Given the description of an element on the screen output the (x, y) to click on. 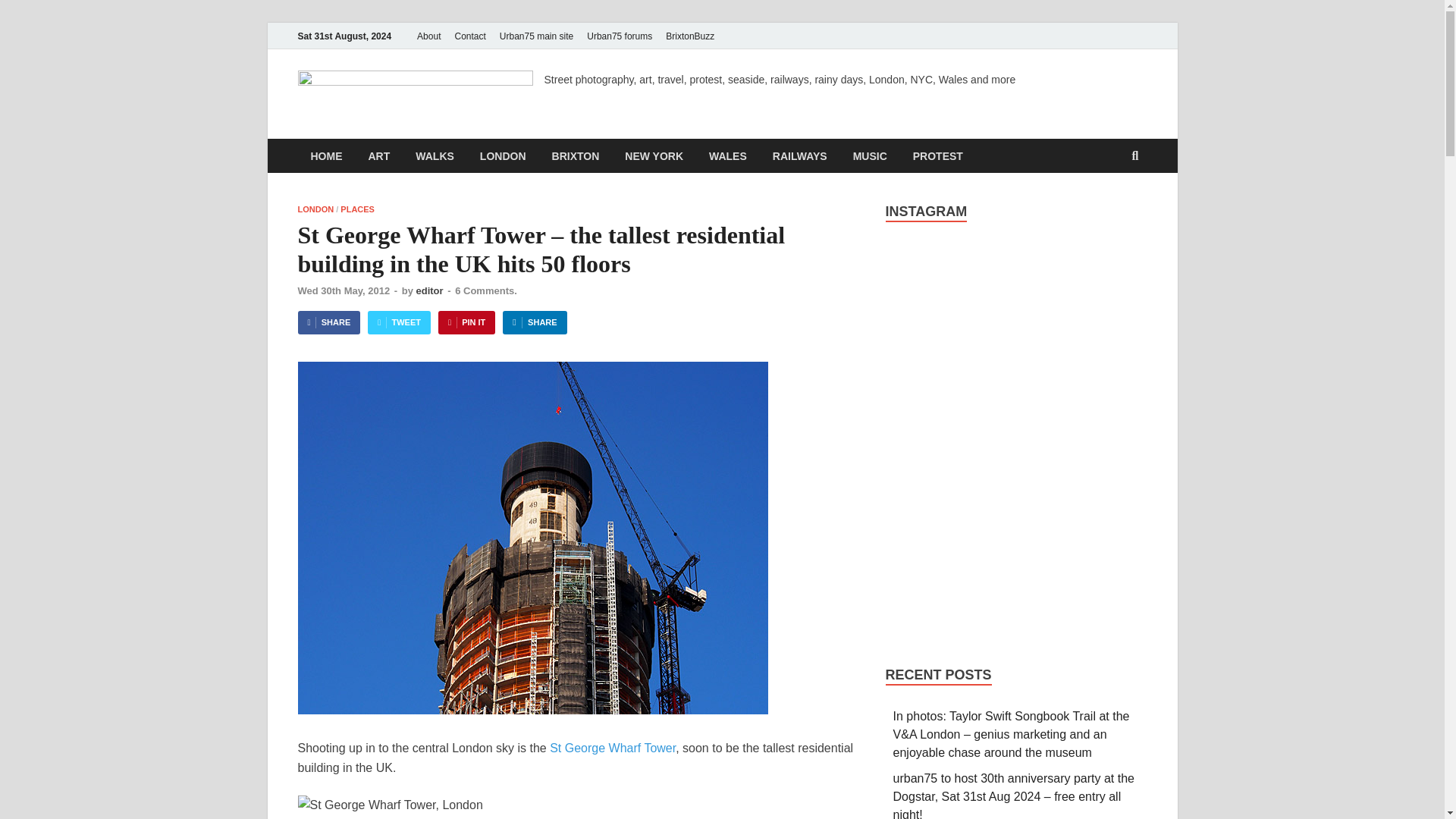
WALES (727, 155)
St George Wharf Tower, London (389, 804)
WALKS (435, 155)
editor (428, 290)
SHARE (328, 322)
PLACES (357, 208)
Contact (469, 35)
Urban75 main site (536, 35)
Urban75 forums (619, 35)
ART (379, 155)
